Given the description of an element on the screen output the (x, y) to click on. 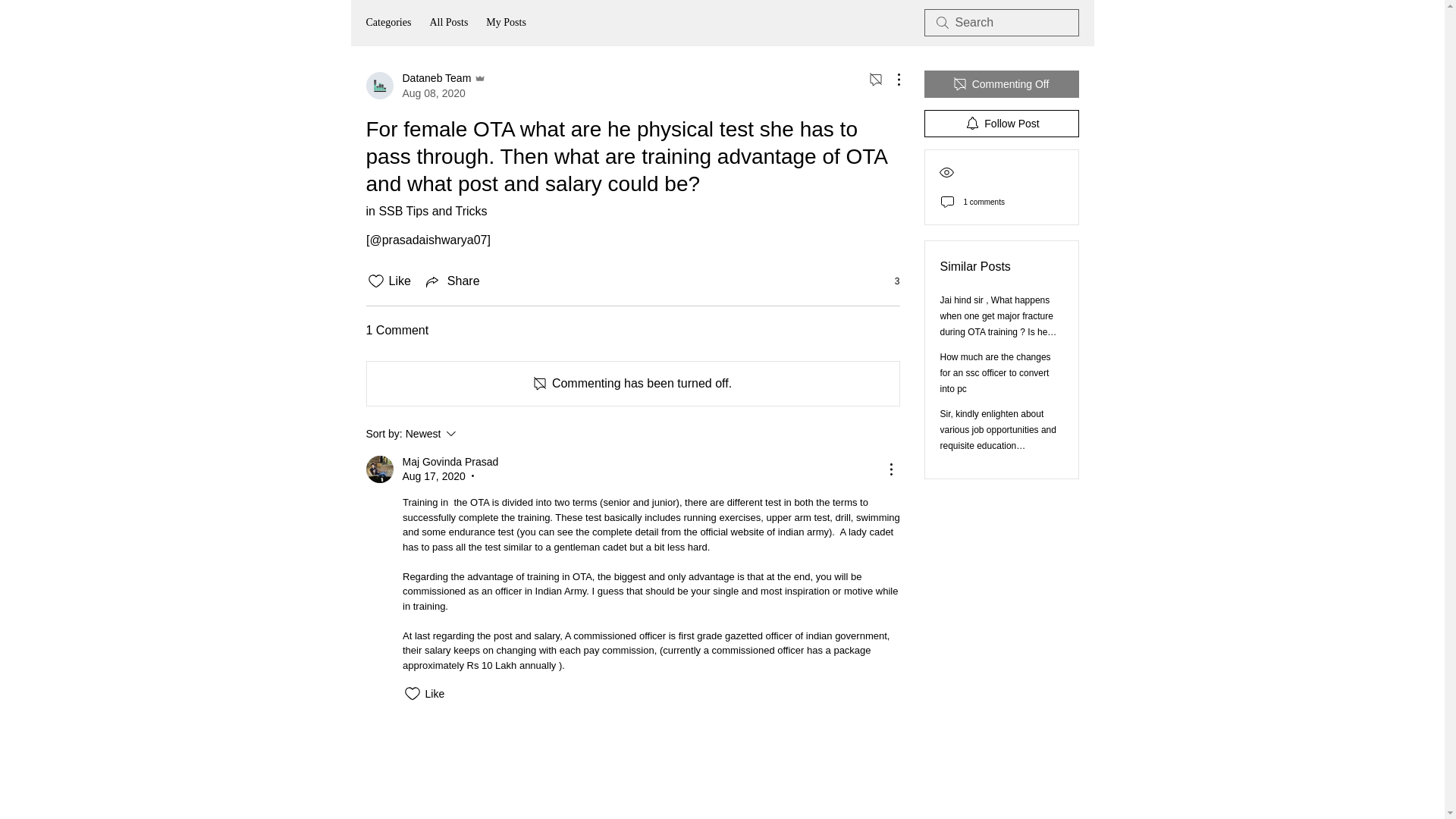
My Posts (471, 434)
All Posts (505, 22)
Maj Govinda Prasad (448, 22)
Commenting Off (379, 469)
3 (1000, 83)
Categories (888, 281)
Share (387, 22)
in SSB Tips and Tricks (451, 280)
Follow Post (425, 85)
Maj Govinda Prasad (425, 210)
